Given the description of an element on the screen output the (x, y) to click on. 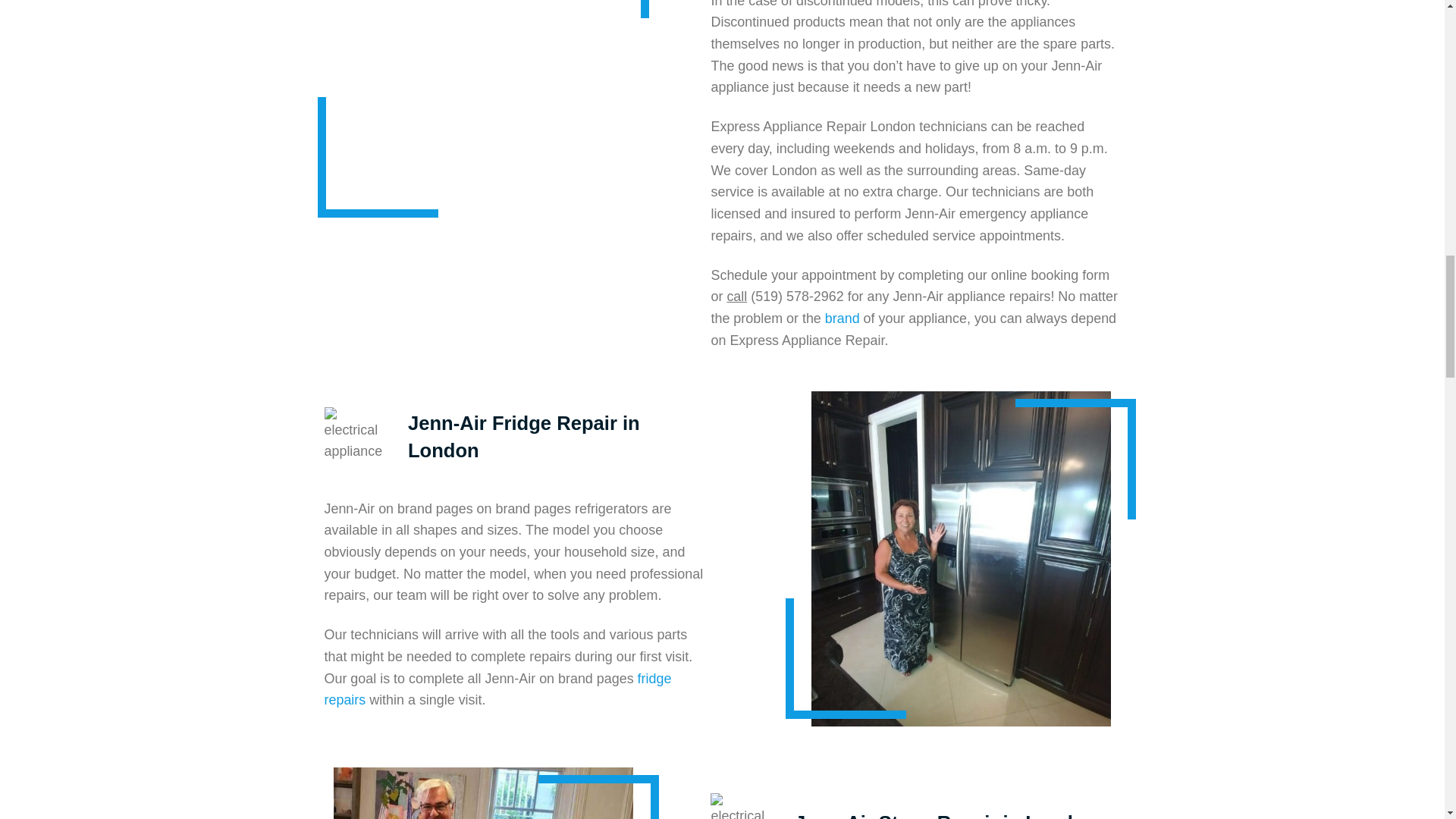
brand (842, 318)
Jenn-Air Stove Repair (483, 793)
Jenn-Air Fridge Repair (960, 558)
fridge repairs (497, 689)
